Given the description of an element on the screen output the (x, y) to click on. 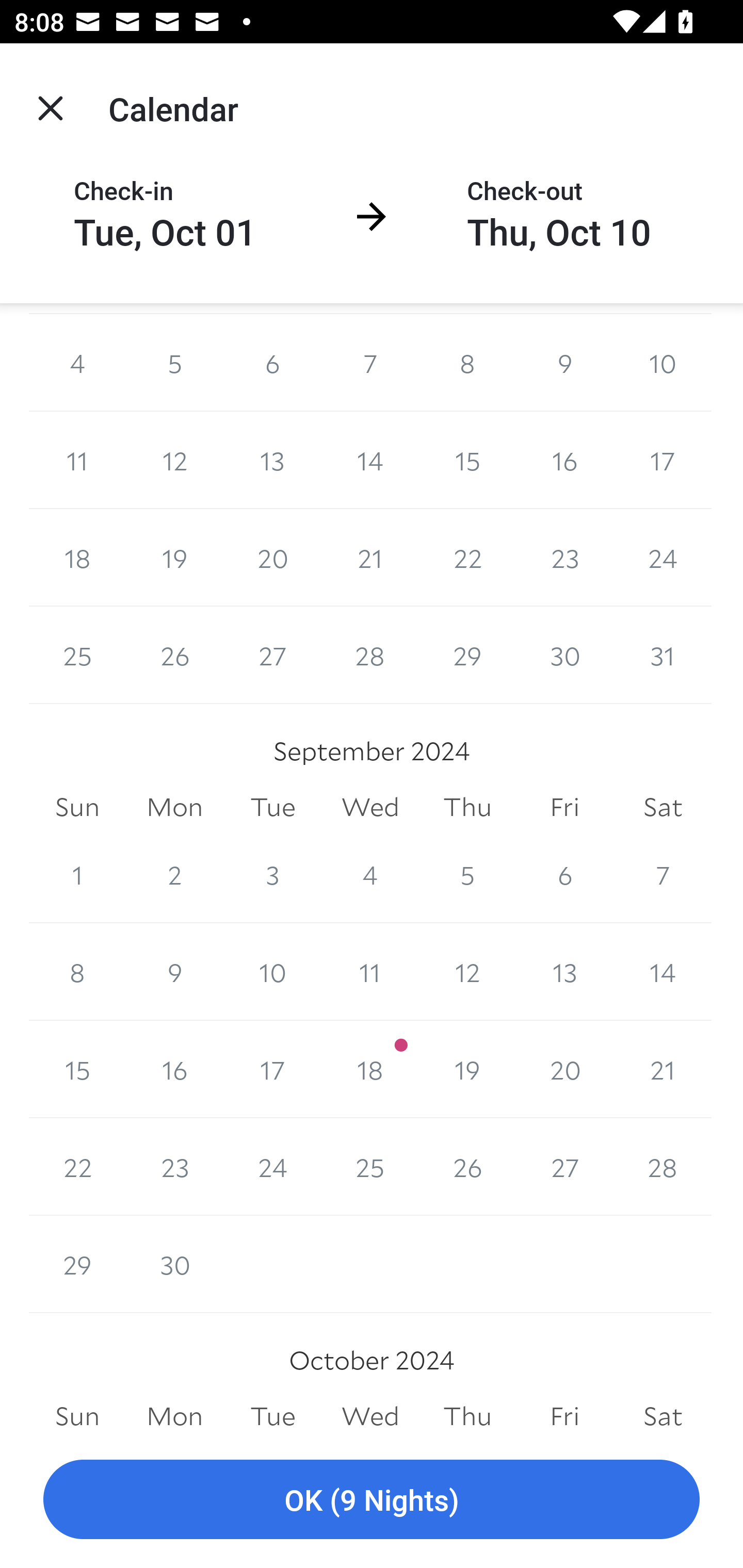
4 4 August 2024 (77, 361)
5 5 August 2024 (174, 361)
6 6 August 2024 (272, 361)
7 7 August 2024 (370, 361)
8 8 August 2024 (467, 361)
9 9 August 2024 (564, 361)
10 10 August 2024 (662, 361)
11 11 August 2024 (77, 459)
12 12 August 2024 (174, 459)
13 13 August 2024 (272, 459)
14 14 August 2024 (370, 459)
15 15 August 2024 (467, 459)
16 16 August 2024 (564, 459)
17 17 August 2024 (662, 459)
18 18 August 2024 (77, 557)
19 19 August 2024 (174, 557)
20 20 August 2024 (272, 557)
21 21 August 2024 (370, 557)
22 22 August 2024 (467, 557)
23 23 August 2024 (564, 557)
24 24 August 2024 (662, 557)
25 25 August 2024 (77, 655)
26 26 August 2024 (174, 655)
27 27 August 2024 (272, 655)
28 28 August 2024 (370, 655)
29 29 August 2024 (467, 655)
30 30 August 2024 (564, 655)
31 31 August 2024 (662, 655)
Sun (77, 807)
Mon (174, 807)
Tue (272, 807)
Wed (370, 807)
Thu (467, 807)
Fri (564, 807)
Sat (662, 807)
1 1 September 2024 (77, 874)
2 2 September 2024 (174, 874)
3 3 September 2024 (272, 874)
4 4 September 2024 (370, 874)
5 5 September 2024 (467, 874)
6 6 September 2024 (564, 874)
7 7 September 2024 (662, 874)
8 8 September 2024 (77, 971)
9 9 September 2024 (174, 971)
10 10 September 2024 (272, 971)
11 11 September 2024 (370, 971)
12 12 September 2024 (467, 971)
13 13 September 2024 (564, 971)
14 14 September 2024 (662, 971)
15 15 September 2024 (77, 1068)
16 16 September 2024 (174, 1068)
17 17 September 2024 (272, 1068)
18 18 September 2024 (370, 1068)
19 19 September 2024 (467, 1068)
20 20 September 2024 (564, 1068)
21 21 September 2024 (662, 1068)
22 22 September 2024 (77, 1166)
23 23 September 2024 (174, 1166)
24 24 September 2024 (272, 1166)
25 25 September 2024 (370, 1166)
26 26 September 2024 (467, 1166)
27 27 September 2024 (564, 1166)
28 28 September 2024 (662, 1166)
29 29 September 2024 (77, 1264)
30 30 September 2024 (174, 1264)
Sun (77, 1413)
Mon (174, 1413)
Tue (272, 1413)
Wed (370, 1413)
Thu (467, 1413)
Fri (564, 1413)
Sat (662, 1413)
OK (9 Nights) (371, 1499)
